Given the description of an element on the screen output the (x, y) to click on. 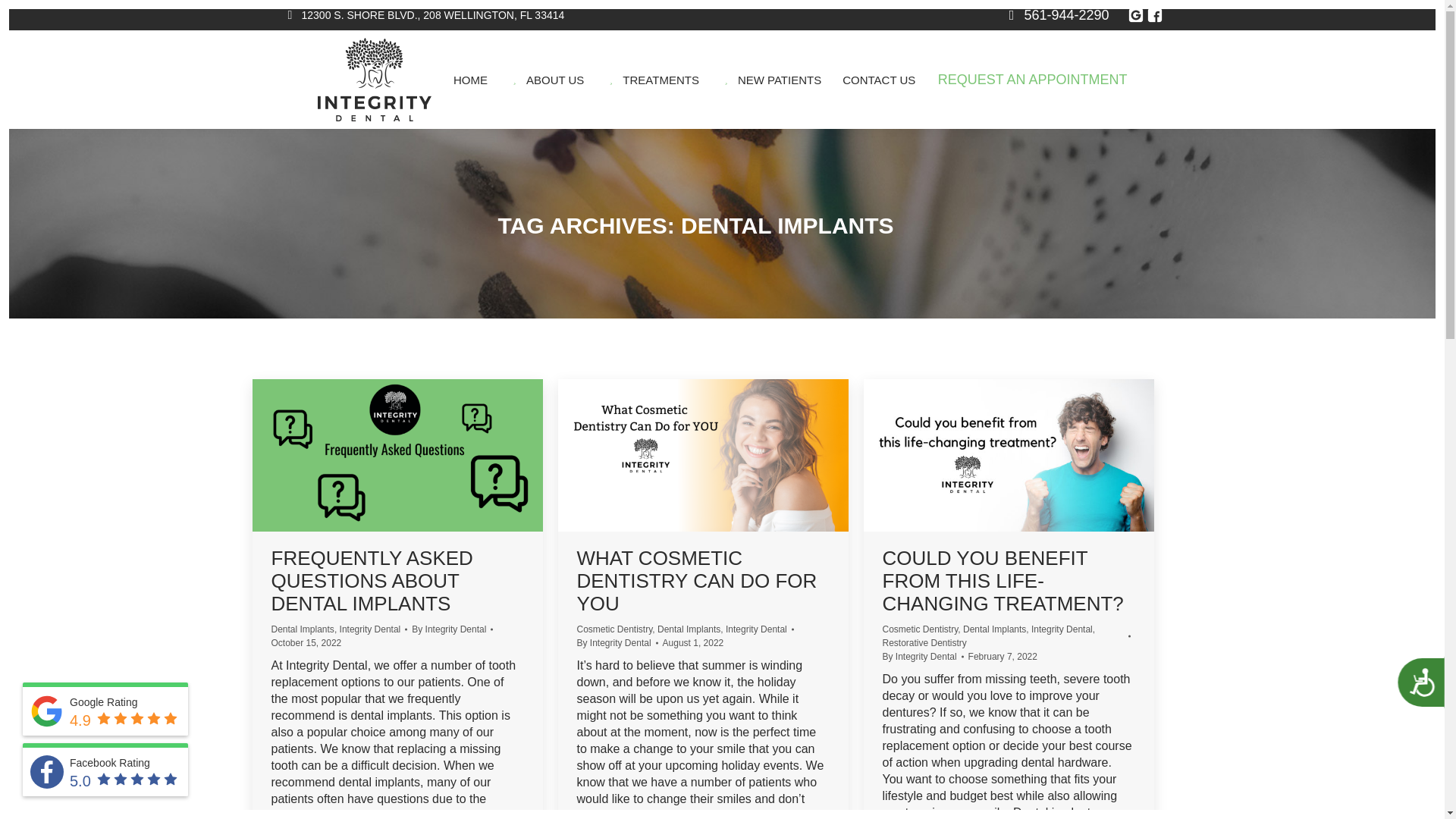
TREATMENTS (652, 79)
View all posts by Integrity Dental (922, 656)
View all posts by Integrity Dental (617, 643)
View all posts by Integrity Dental (452, 629)
6:00 am (306, 643)
Frequently Asked Questions About Dental Implants (371, 581)
561-944-2290 (1056, 14)
CONTACT US (878, 79)
ABOUT US (545, 79)
Facebook Profile (1154, 14)
Could You Benefit From This Life-Changing Treatment? (1003, 581)
6:00 am (692, 643)
NEW PATIENTS (770, 79)
What Cosmetic Dentistry Can Do For YOU (696, 581)
Google Maps (1135, 14)
